Given the description of an element on the screen output the (x, y) to click on. 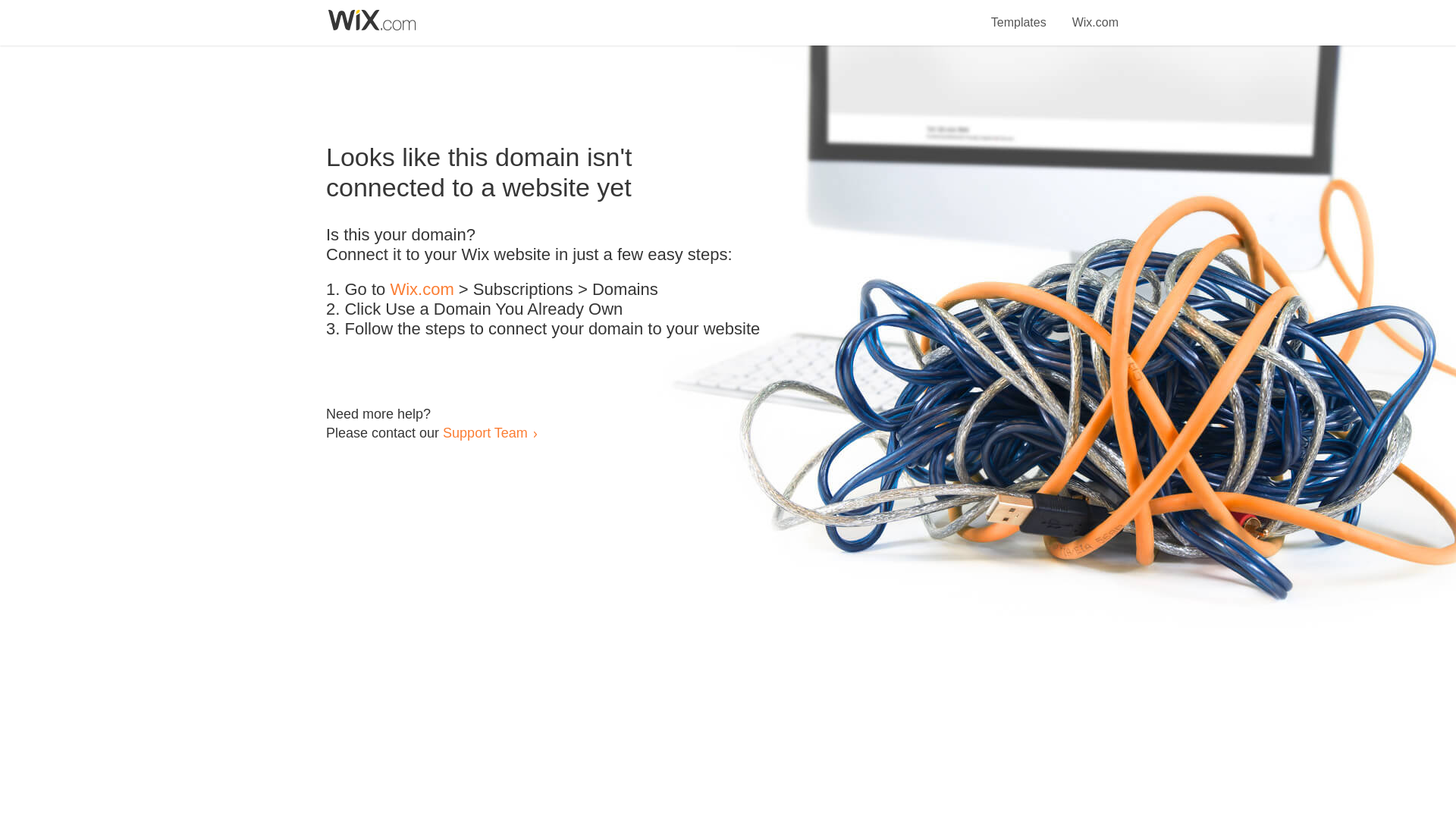
Support Team (484, 432)
Templates (1018, 14)
Wix.com (421, 289)
Wix.com (1095, 14)
